Given the description of an element on the screen output the (x, y) to click on. 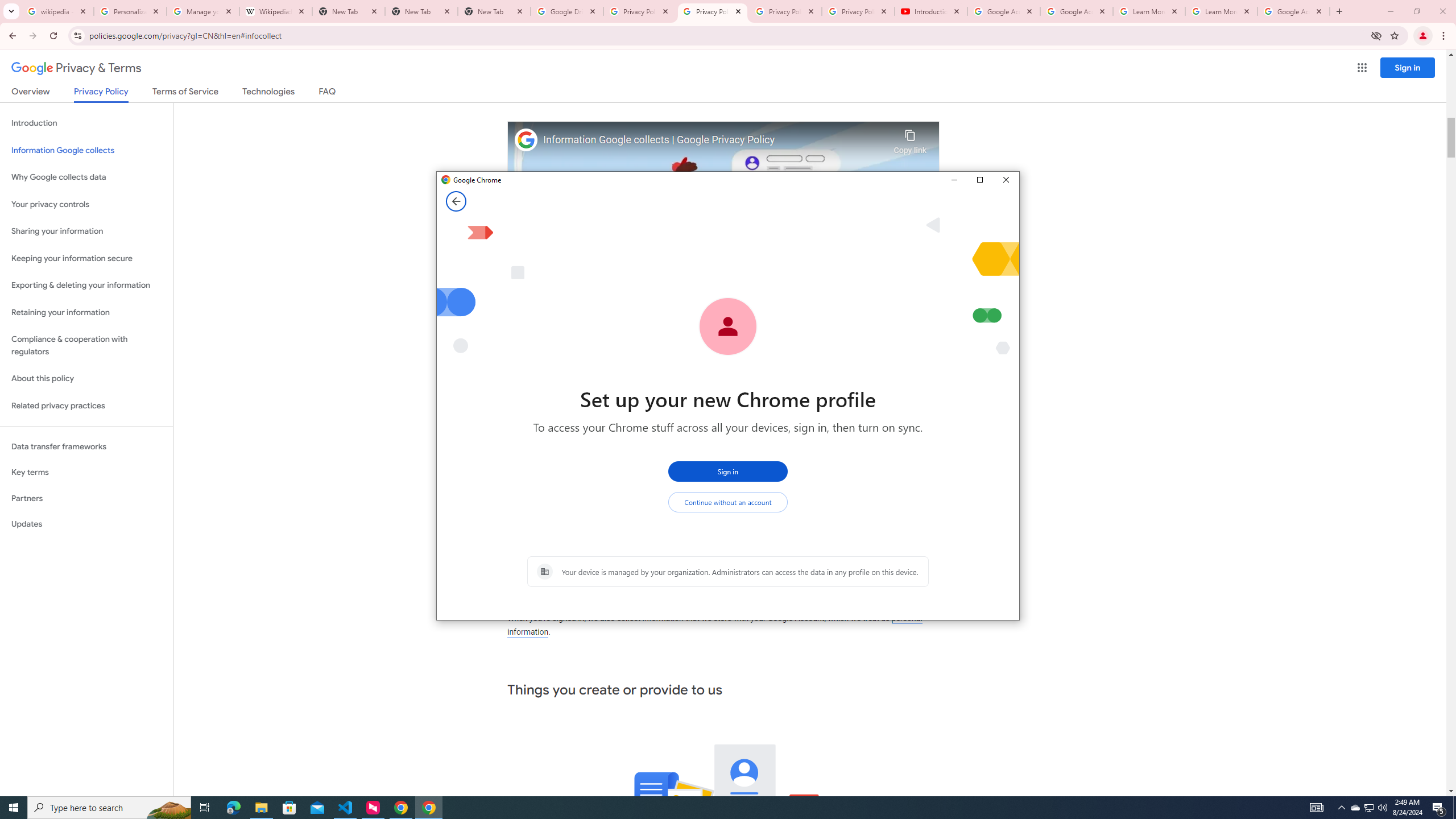
Privacy Policy (100, 94)
Keeping your information secure (86, 258)
Wikipedia:Edit requests - Wikipedia (275, 11)
Manage your Location History - Google Search Help (202, 11)
Google Account Help (1003, 11)
Show desktop (1454, 807)
Continue without an account (727, 502)
Retaining your information (86, 312)
Photo image of Google (526, 139)
Third-party cookies blocked (1376, 35)
Exporting & deleting your information (86, 284)
Type here to search (108, 807)
Running applications (717, 807)
